Given the description of an element on the screen output the (x, y) to click on. 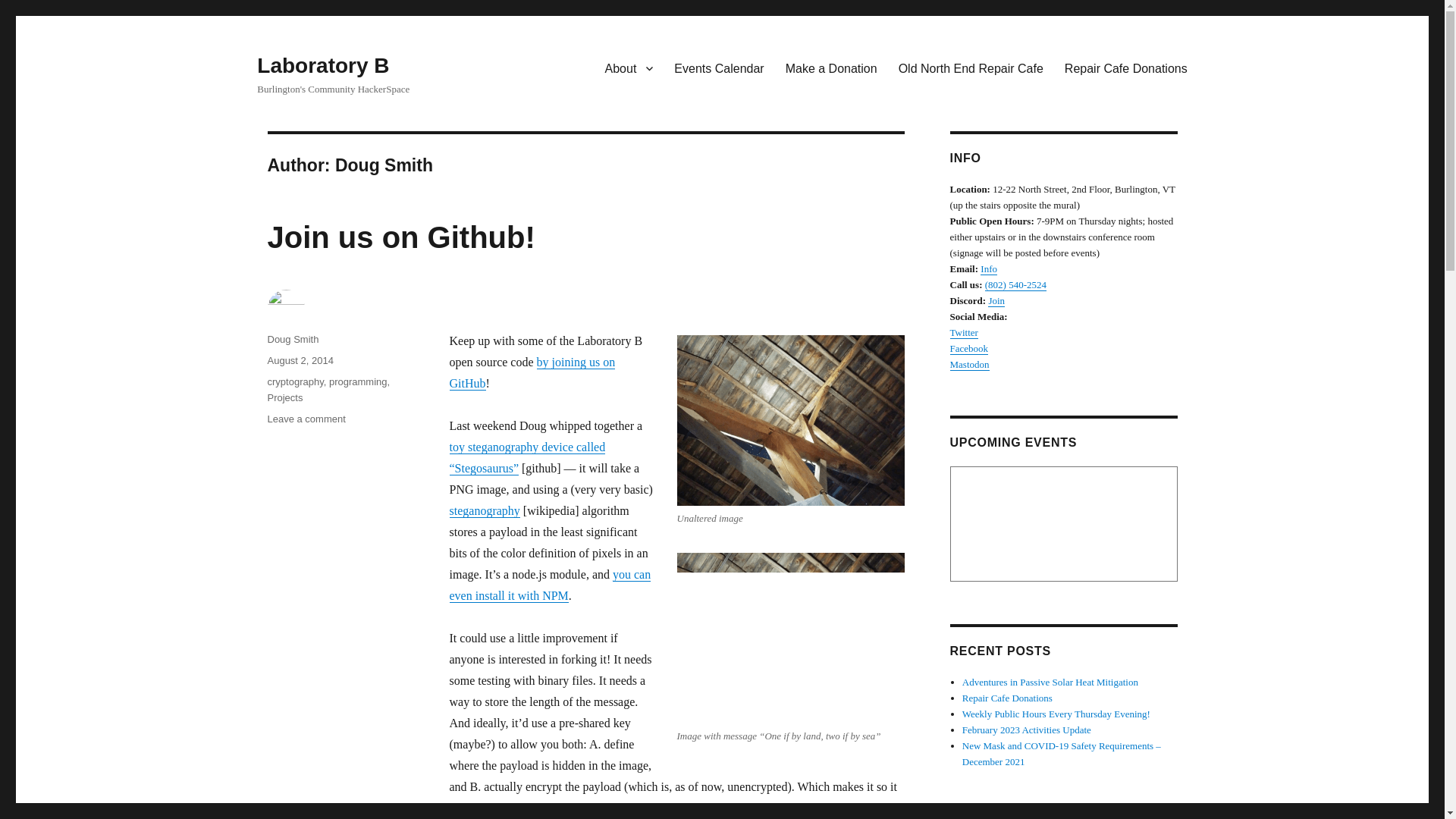
steganography (483, 510)
Doug Smith (292, 338)
cryptography (294, 381)
by joining us on GitHub (305, 419)
you can even install it with NPM (531, 372)
About (549, 584)
Repair Cafe Donations (628, 68)
August 2, 2014 (1126, 68)
programming (299, 360)
Projects (358, 381)
The Great Wave (284, 397)
Make a Donation (790, 637)
Events Calendar (831, 68)
Join us on Github! (718, 68)
